Given the description of an element on the screen output the (x, y) to click on. 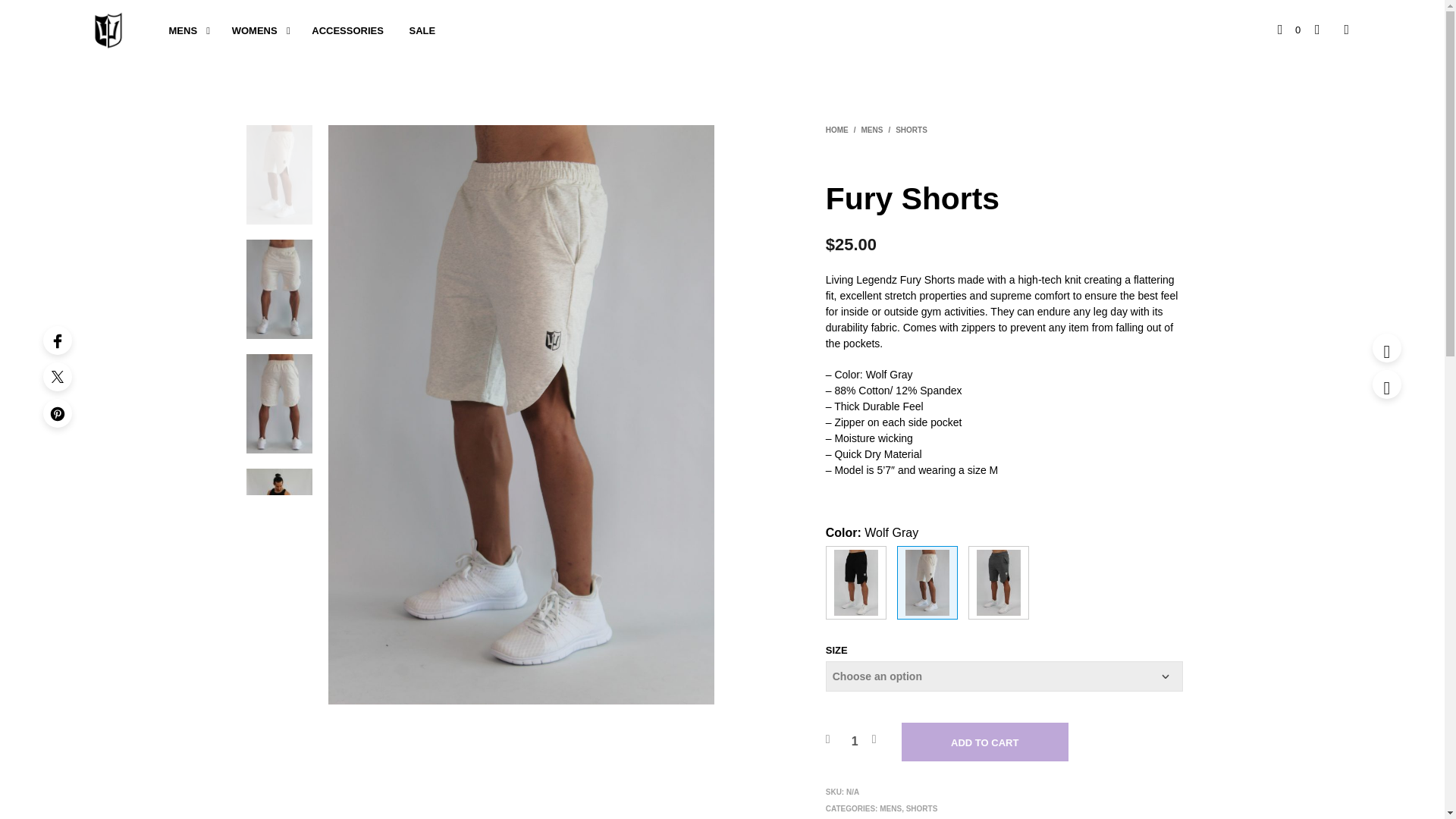
1 (855, 741)
Qty (855, 741)
WOMENS (254, 30)
MENS (183, 30)
